Given the description of an element on the screen output the (x, y) to click on. 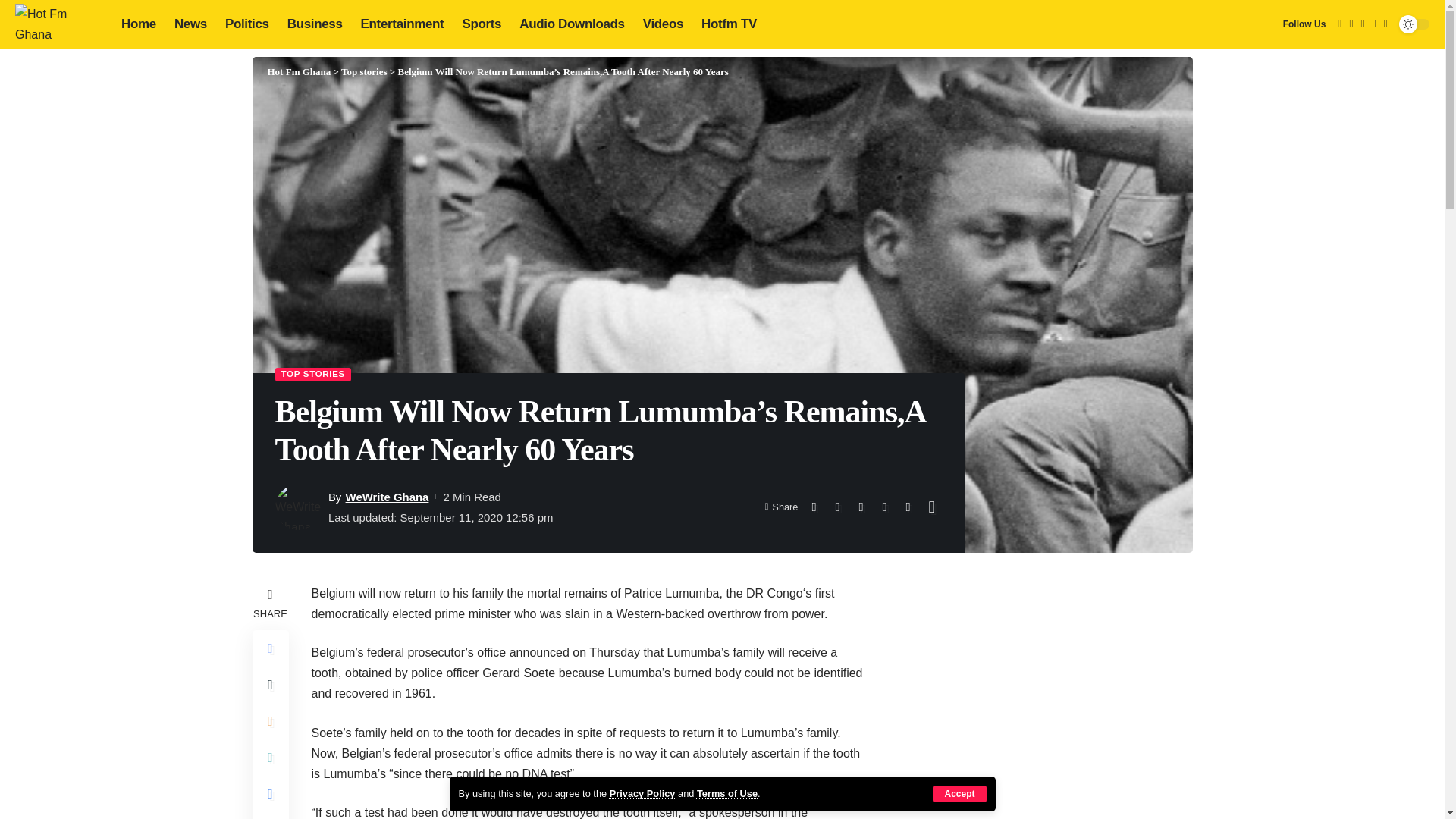
News (190, 23)
Videos (663, 23)
Home (138, 23)
Hotfm TV (729, 23)
Go to the Top stories Category archives. (363, 71)
Business (315, 23)
Go to Hot Fm Ghana. (298, 71)
Accept (959, 793)
Privacy Policy (642, 793)
Sports (481, 23)
